Given the description of an element on the screen output the (x, y) to click on. 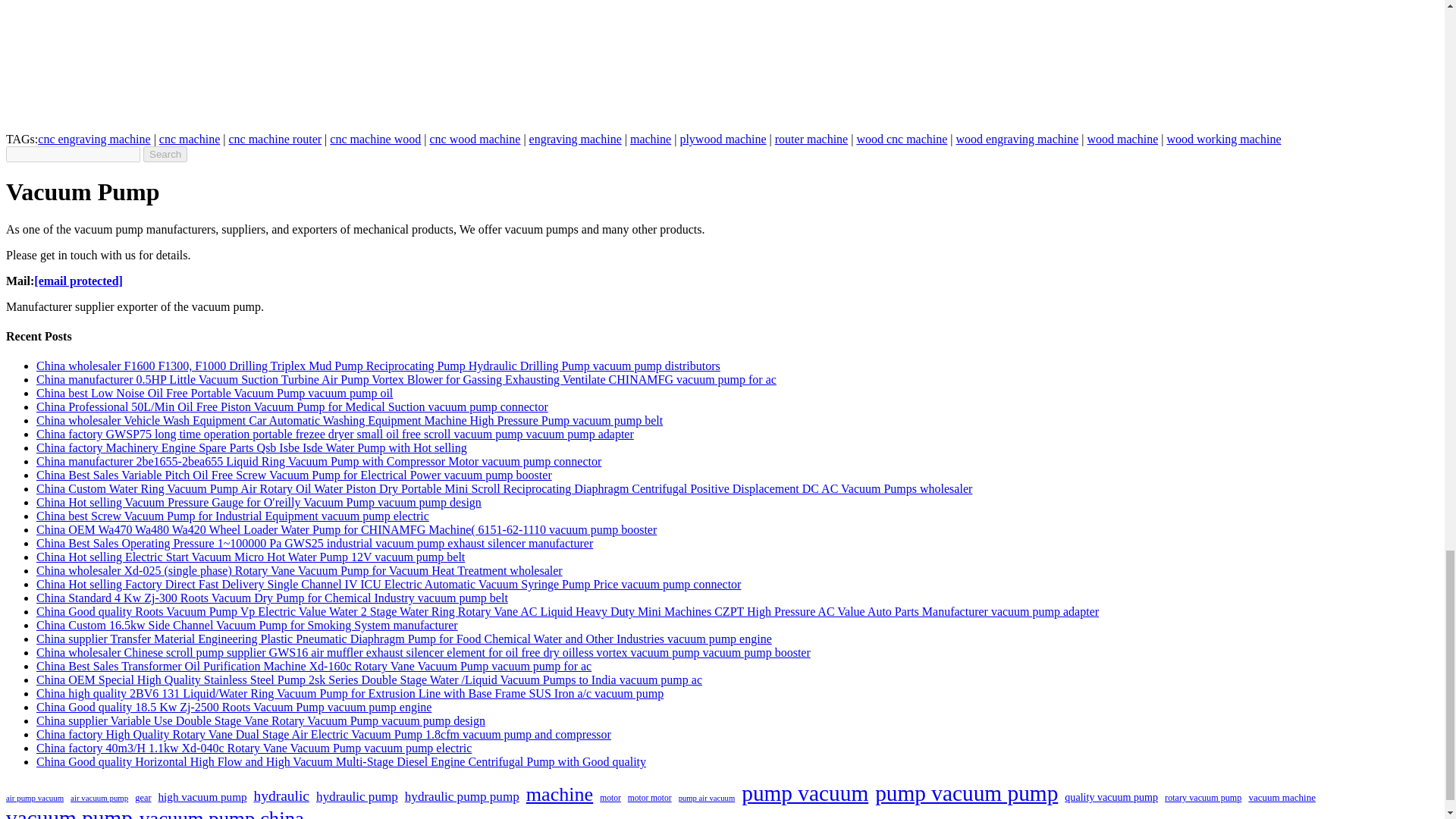
plywood machine (722, 138)
wood engraving machine (1017, 138)
engraving machine (575, 138)
cnc engraving machine (93, 138)
Search (164, 154)
machine (650, 138)
wood cnc machine (901, 138)
